Given the description of an element on the screen output the (x, y) to click on. 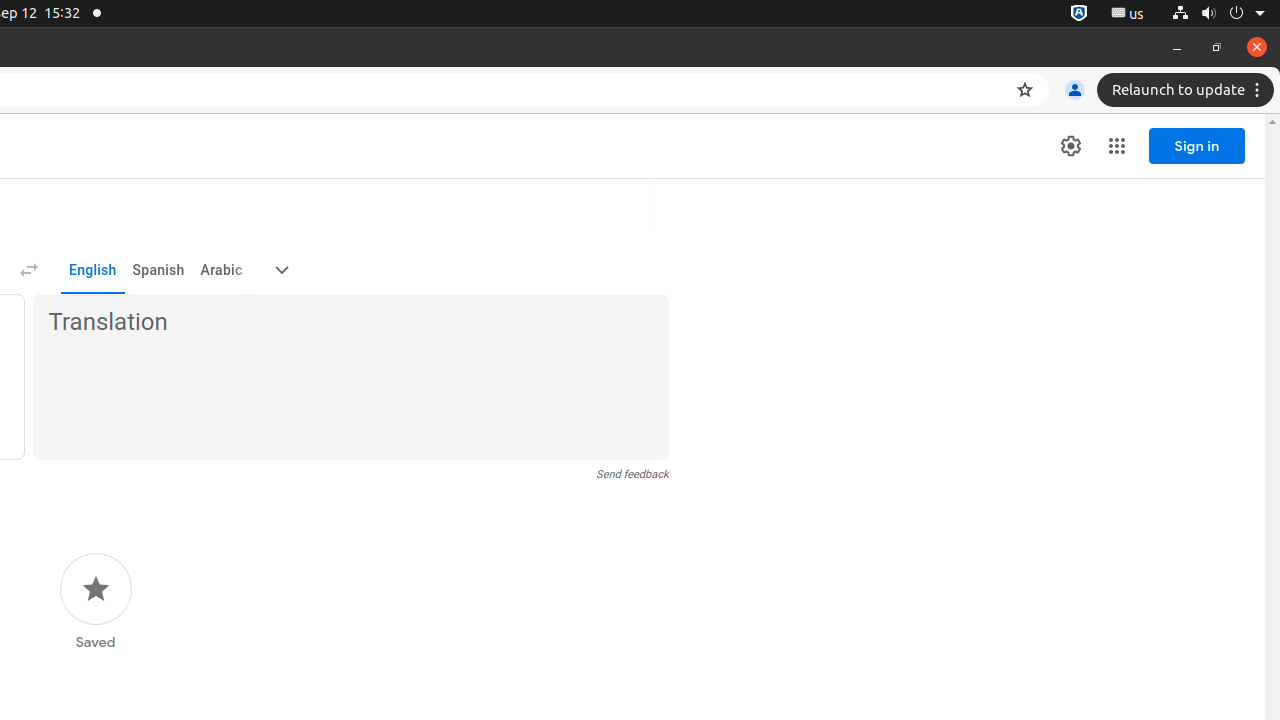
More target languages Element type: push-button (281, 270)
System Element type: menu (1218, 13)
Sign in Element type: link (1197, 146)
Google apps Element type: push-button (1117, 145)
